Given the description of an element on the screen output the (x, y) to click on. 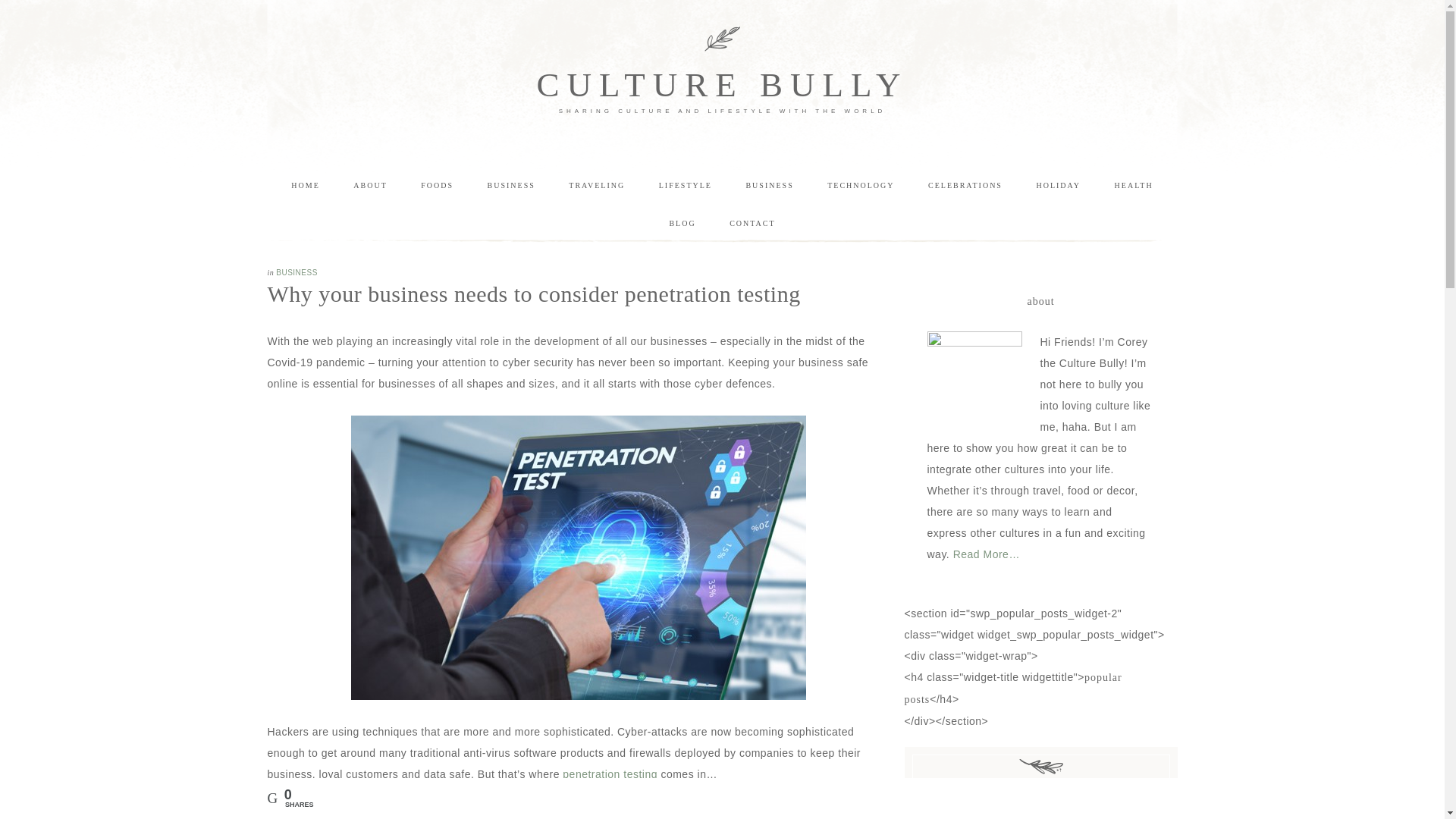
BUSINESS (510, 185)
TRAVELING (596, 185)
LIFESTYLE (684, 185)
penetration testing (610, 774)
BUSINESS (296, 272)
FOODS (437, 185)
CULTURE BULLY (721, 85)
ABOUT (369, 185)
HEALTH (1134, 185)
HOME (305, 185)
